Given the description of an element on the screen output the (x, y) to click on. 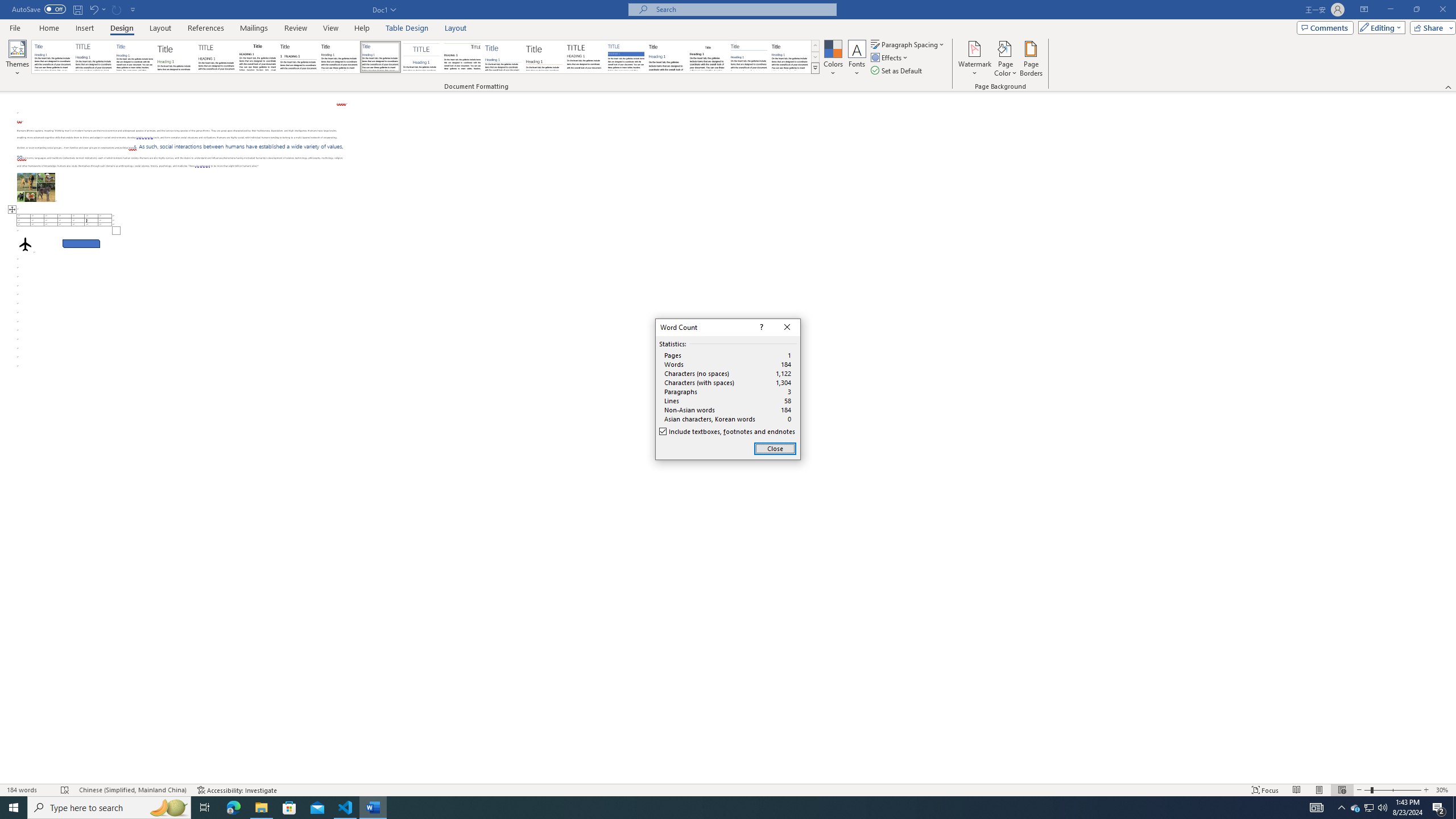
Ribbon Display Options (1364, 9)
Home (48, 28)
View (330, 28)
Effects (890, 56)
Undo Apply Quick Style Set (96, 9)
Action Center, 2 new notifications (1439, 807)
Insert (83, 28)
Type here to search (108, 807)
Colors (832, 58)
Share (1430, 27)
Row up (814, 45)
More Options (103, 9)
Comments (1325, 27)
Include textboxes, footnotes and endnotes (727, 431)
References (205, 28)
